Given the description of an element on the screen output the (x, y) to click on. 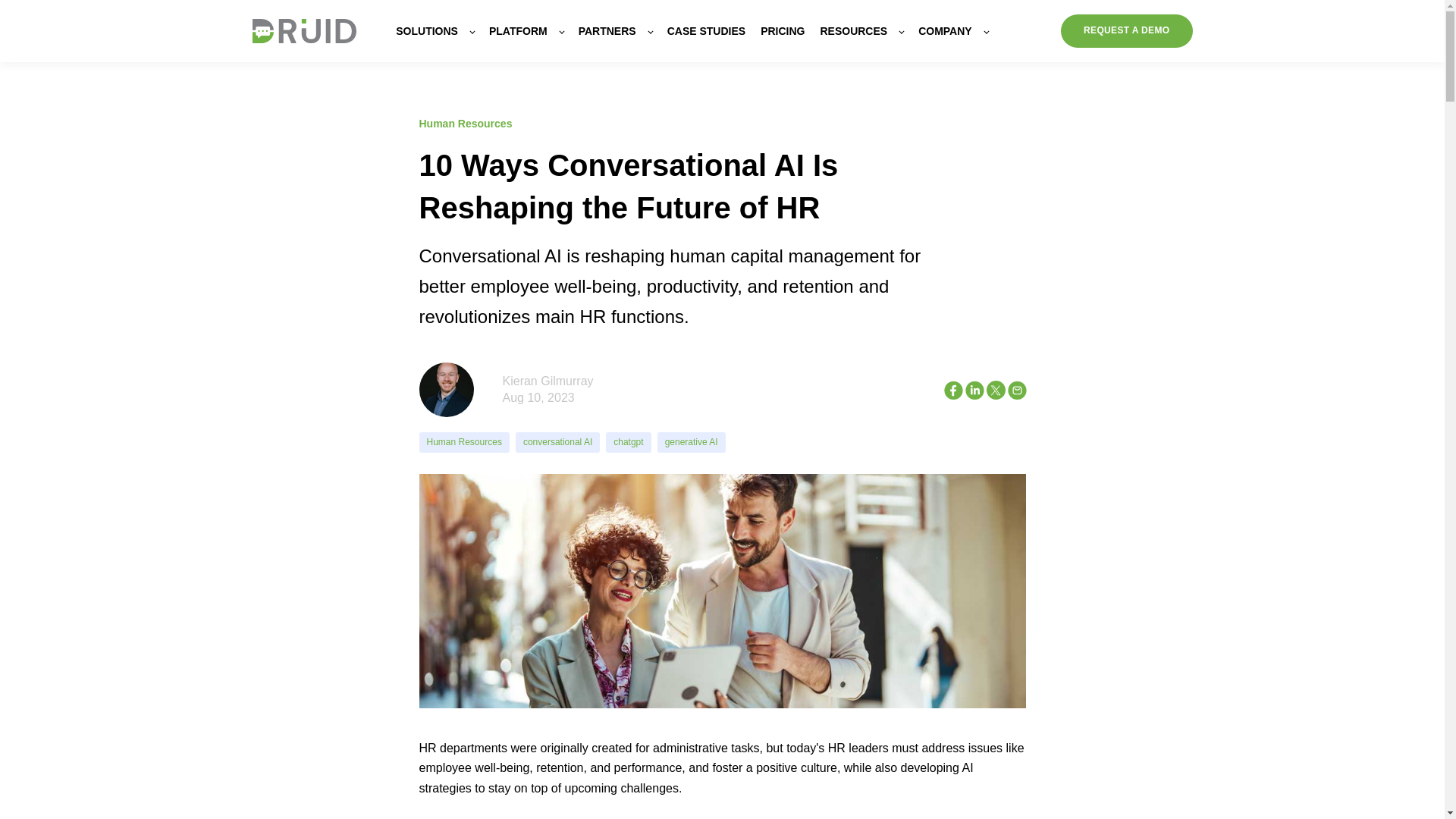
PRICING (782, 30)
SOLUTIONS (435, 30)
RESOURCES (860, 30)
PARTNERS (615, 30)
CASE STUDIES (705, 30)
COMPANY (953, 30)
REQUEST A DEMO (1126, 30)
PLATFORM (526, 30)
Kieran Gilmurray (547, 380)
